Given the description of an element on the screen output the (x, y) to click on. 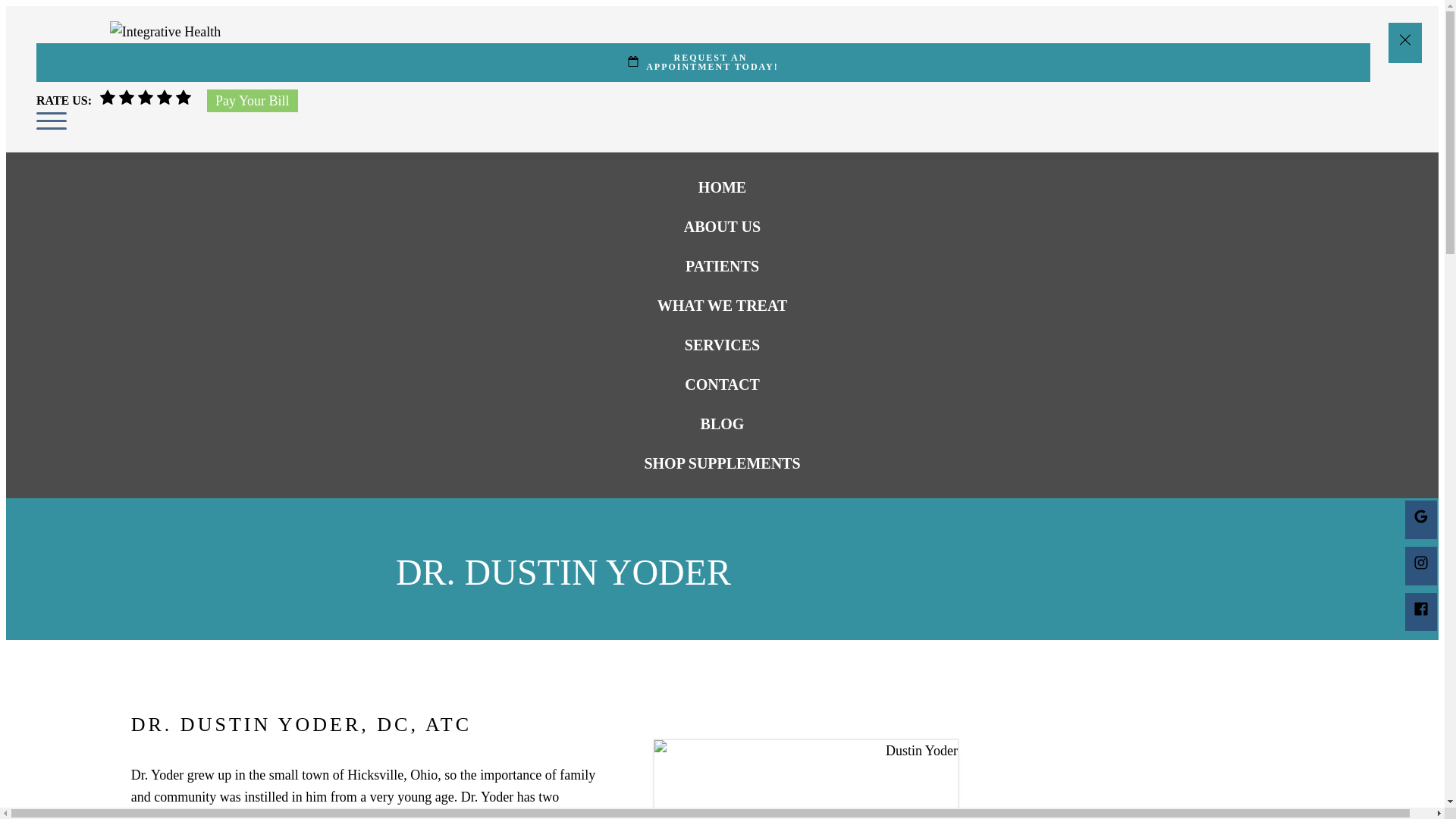
WHAT WE TREAT (721, 305)
HOME (721, 187)
ABOUT US (721, 226)
Pay Your Bill (252, 101)
SERVICES (721, 344)
PATIENTS (703, 62)
